Given the description of an element on the screen output the (x, y) to click on. 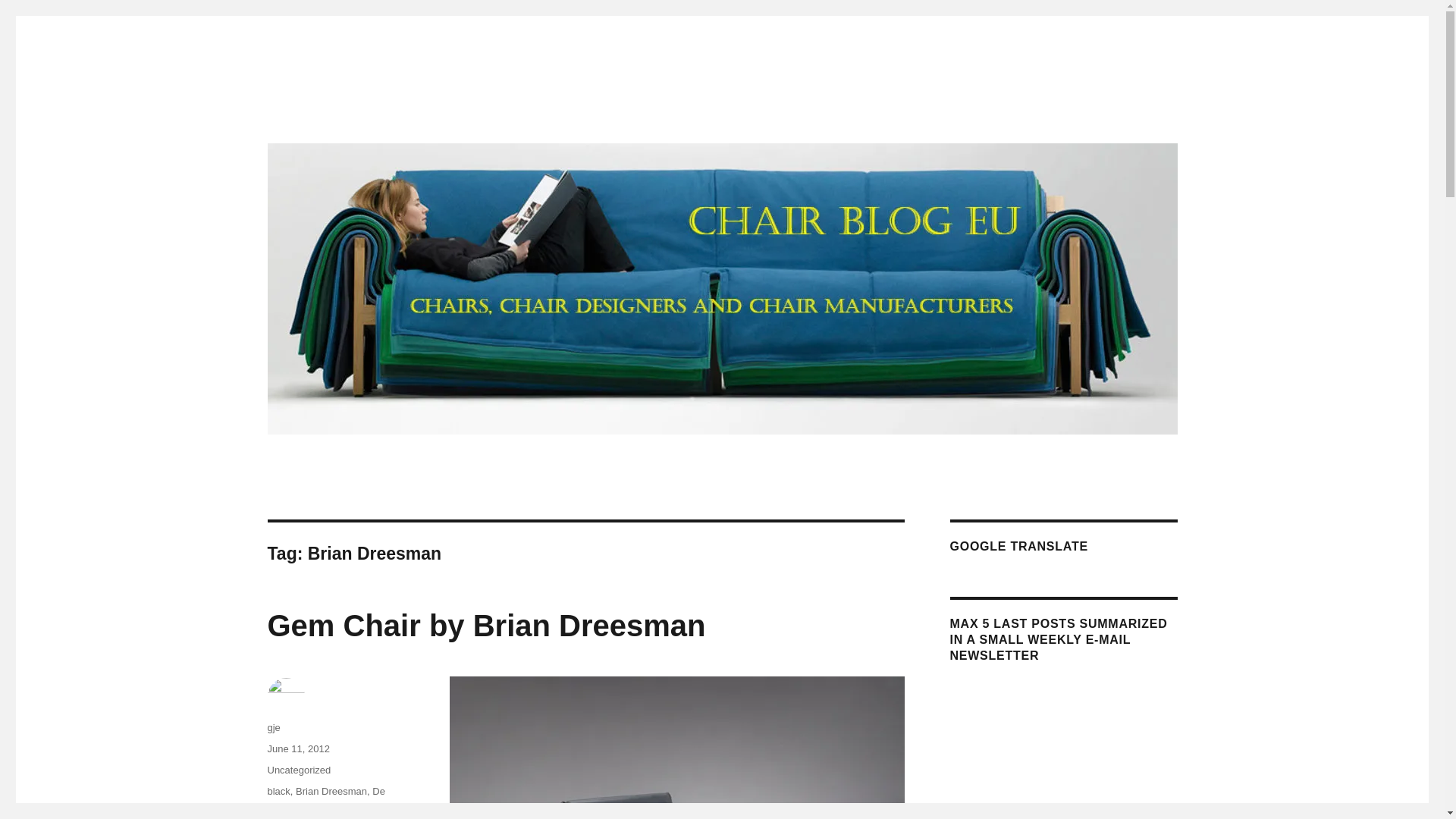
black (277, 790)
leather (303, 807)
Gem Chair by Brian Dreesman (485, 625)
Brian Dreesman (330, 790)
wood (335, 807)
Gem-Chair-by-Brian-Dreesman-Half-Side-view (676, 747)
June 11, 2012 (297, 748)
gje (272, 727)
De Stijl (325, 799)
Chairblog.eu (331, 114)
